Given the description of an element on the screen output the (x, y) to click on. 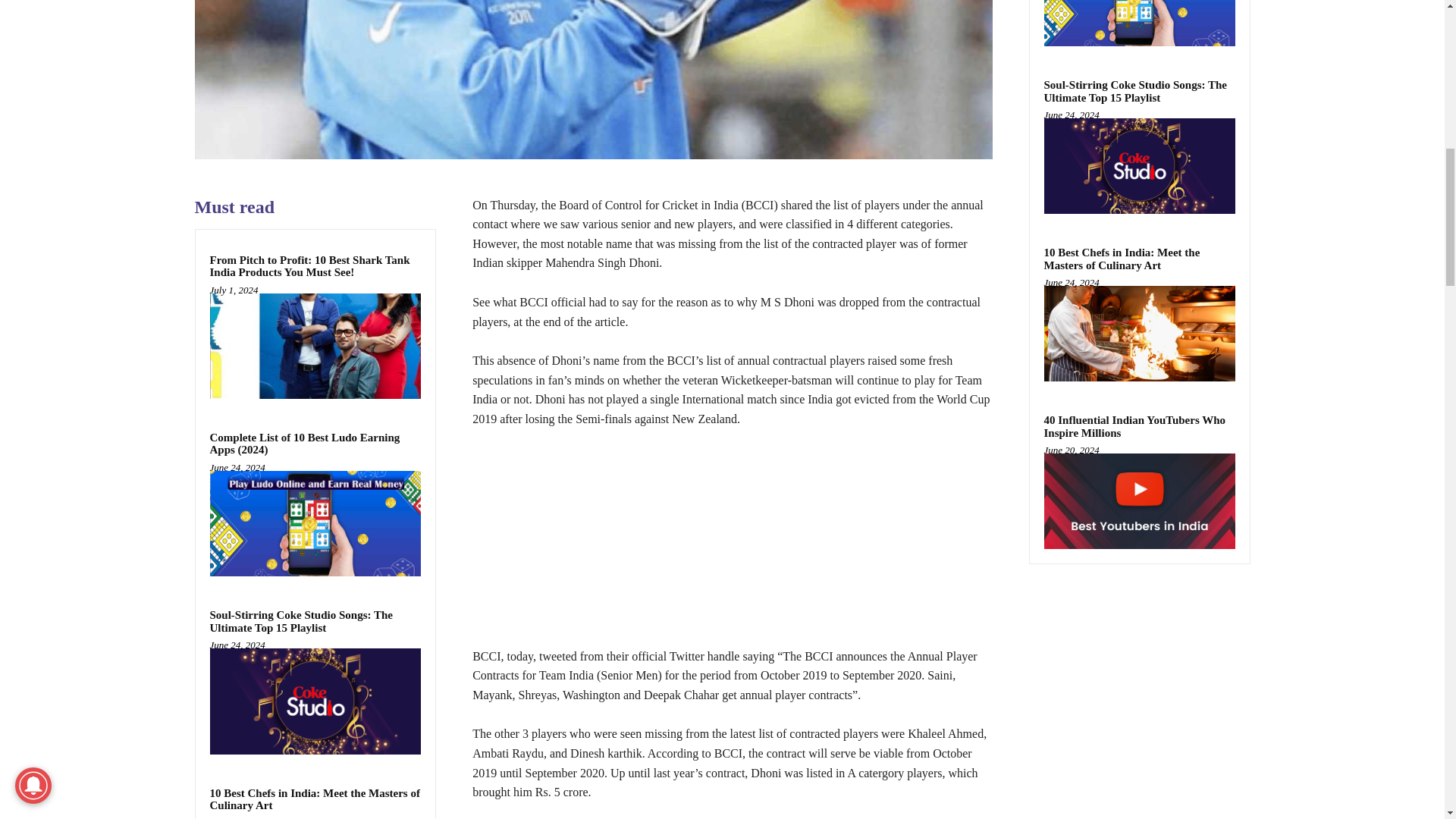
M S Dhoni Dropped From BCCI Contract Players (592, 79)
